Given the description of an element on the screen output the (x, y) to click on. 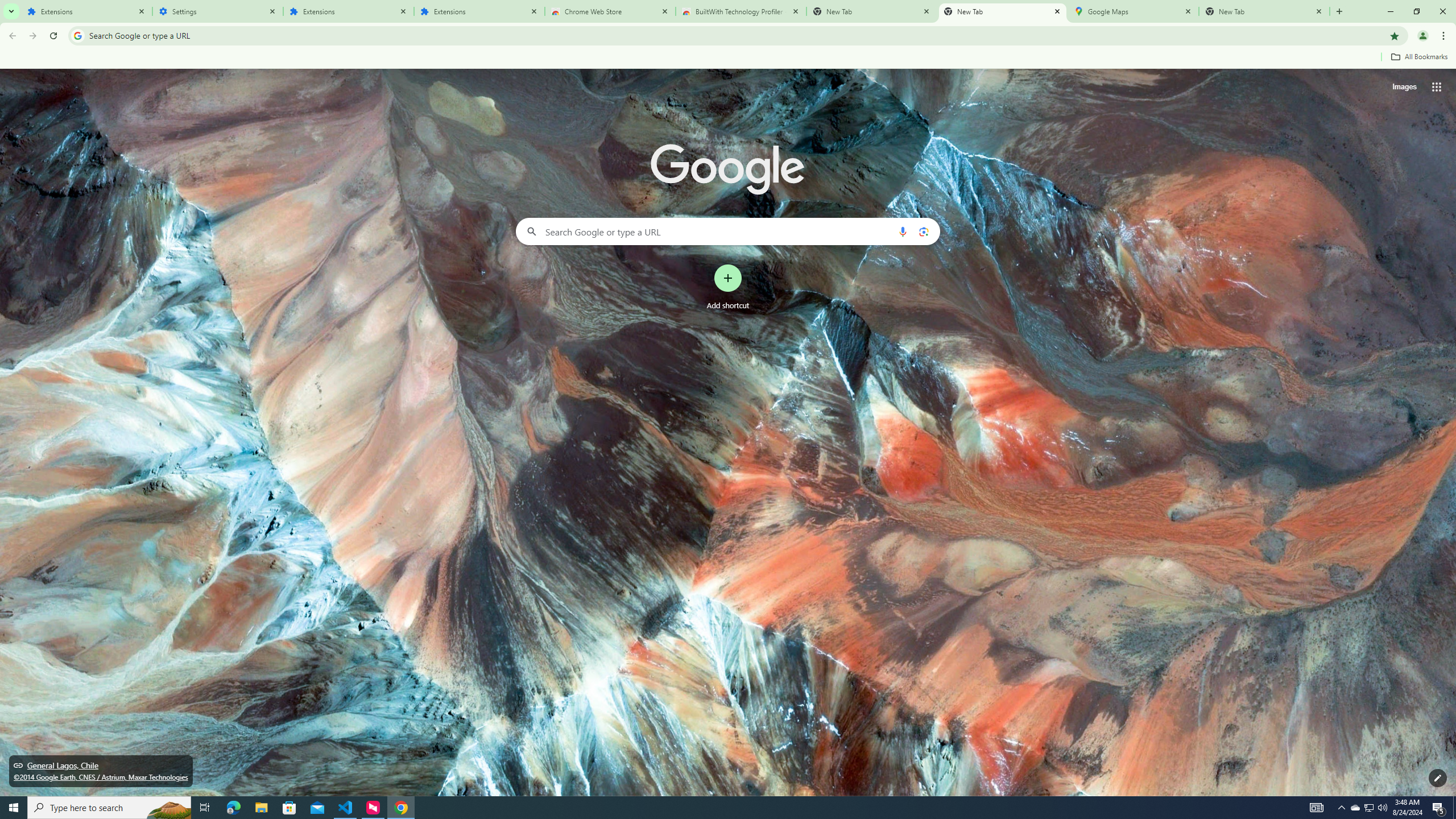
Google Maps (1133, 11)
Bookmarks (728, 58)
Search Google or type a URL (727, 230)
Extensions (86, 11)
Add shortcut (727, 287)
Extensions (479, 11)
